Given the description of an element on the screen output the (x, y) to click on. 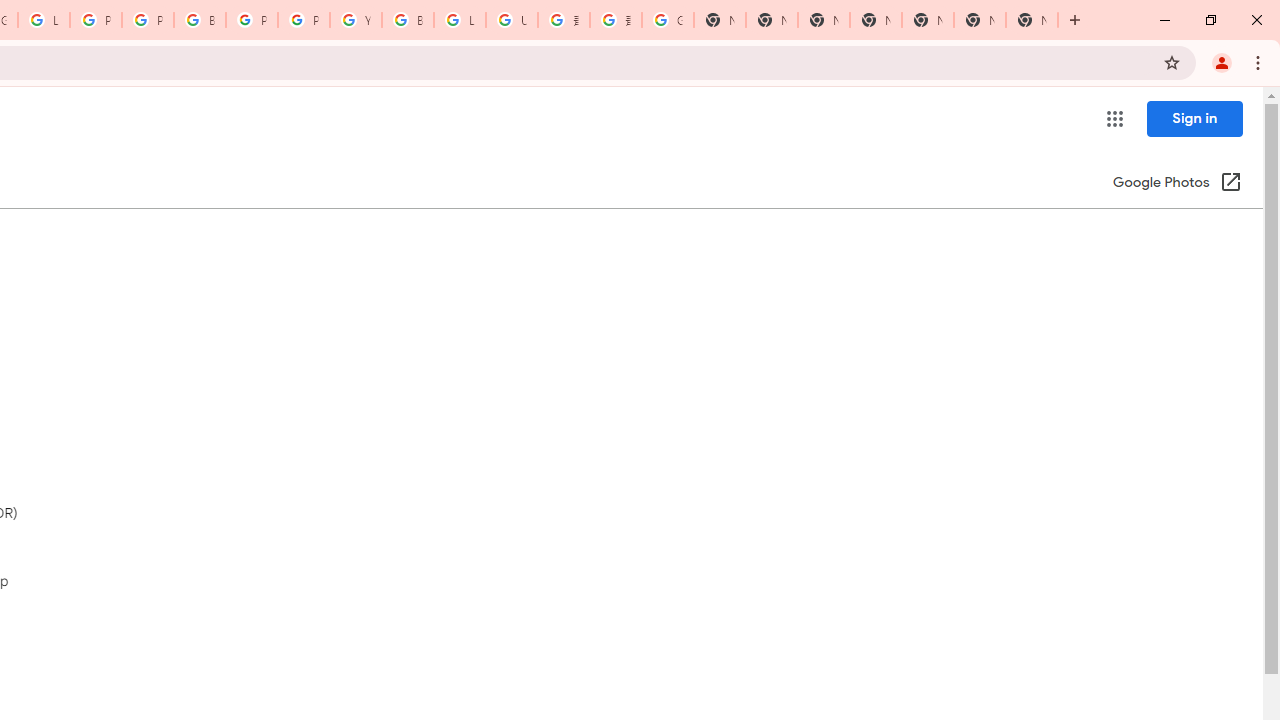
New Tab (875, 20)
Google Photos (Open in a new window) (1177, 183)
Privacy Help Center - Policies Help (95, 20)
